Given the description of an element on the screen output the (x, y) to click on. 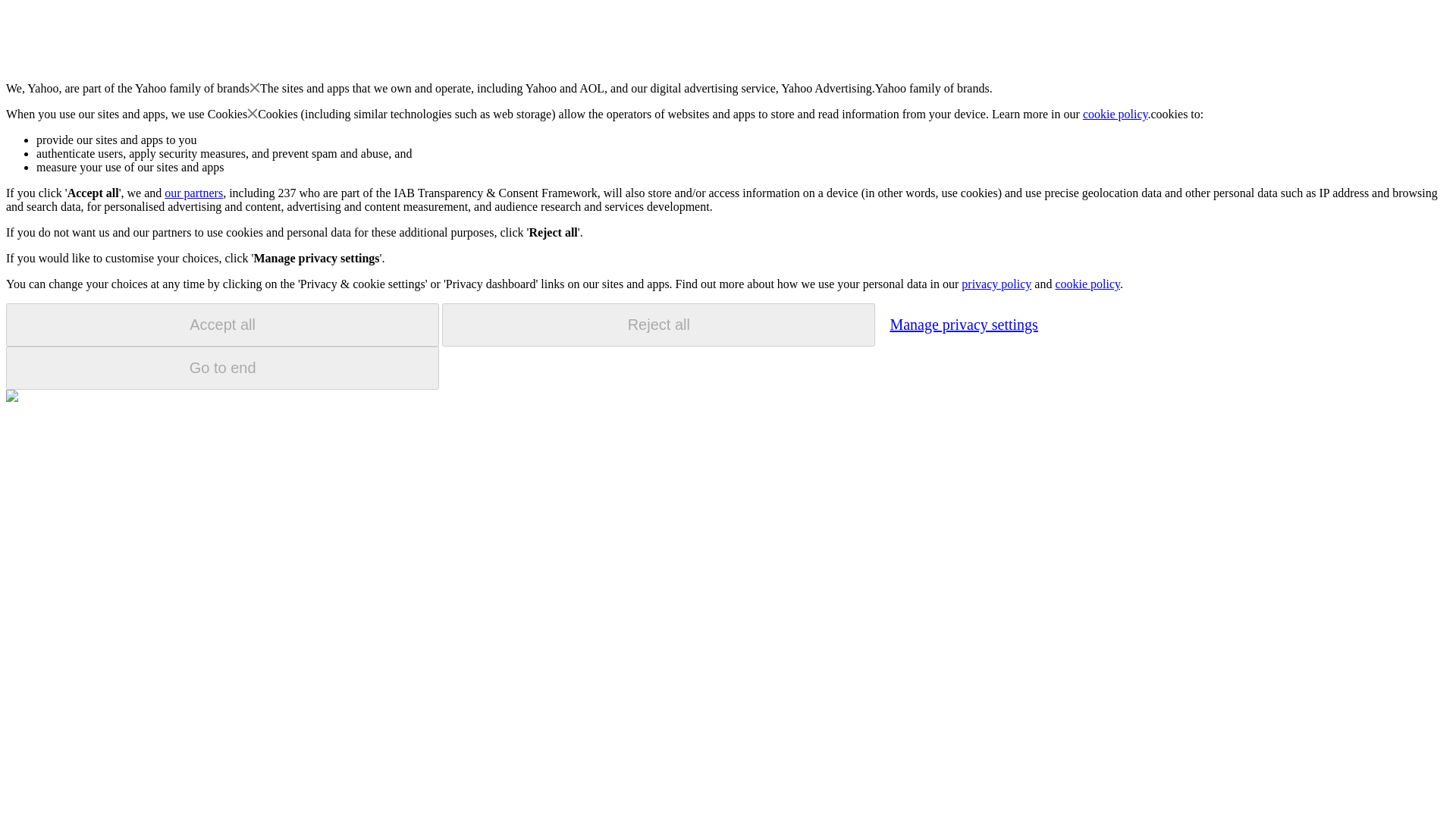
our partners (193, 192)
cookie policy (1086, 283)
cookie policy (1115, 113)
Go to end (222, 367)
Manage privacy settings (963, 323)
privacy policy (995, 283)
Accept all (222, 324)
Reject all (658, 324)
